Given the description of an element on the screen output the (x, y) to click on. 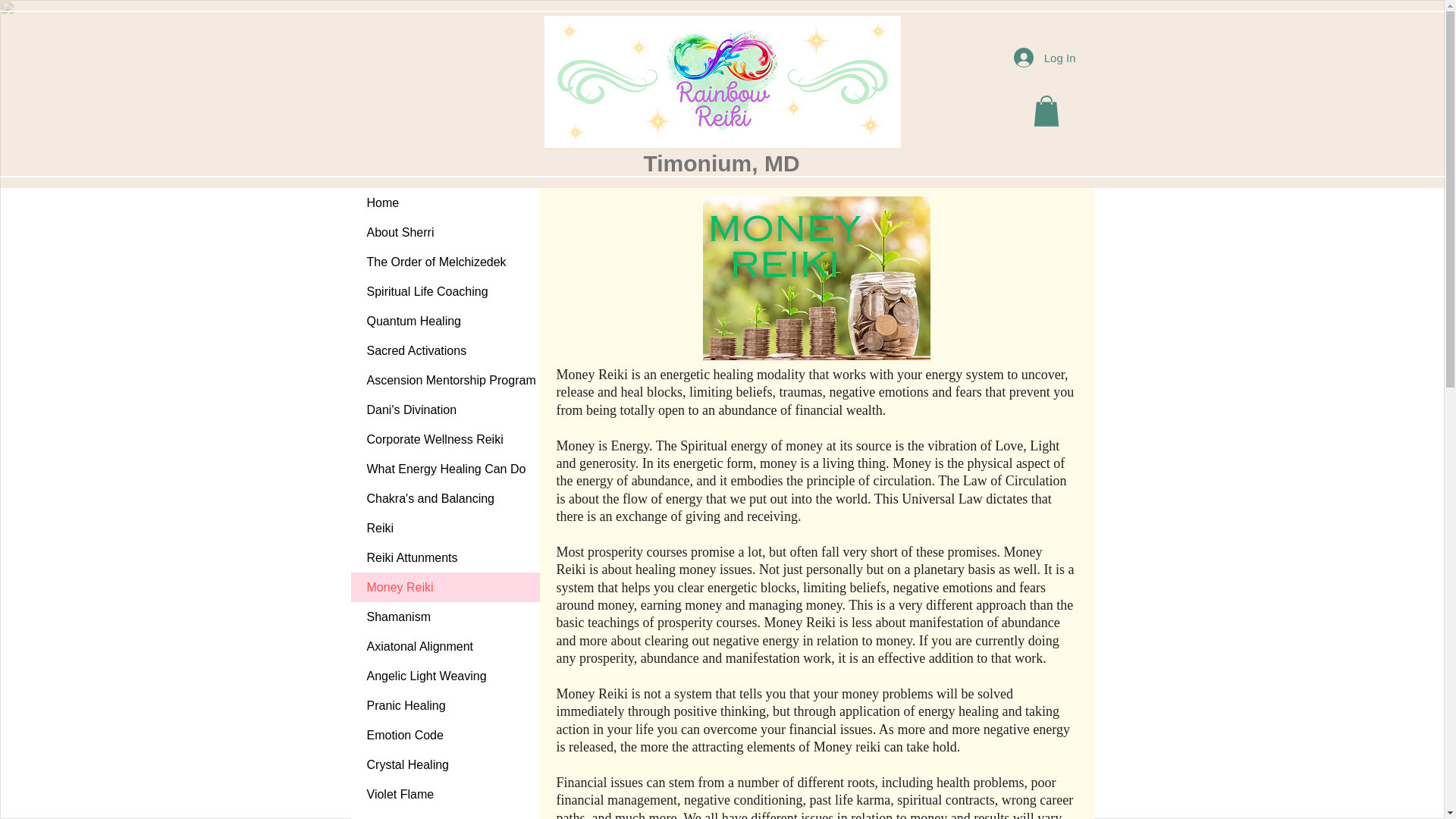
What Energy Healing Can Do (444, 469)
Ascension Mentorship Program (444, 379)
Spiritual Life Coaching (444, 291)
RR NL Header.png (722, 81)
Violet Flame (444, 794)
Money Reiki (444, 586)
Log In (1044, 57)
Quantum Healing (444, 320)
Shamanism (444, 616)
Sacred Activations (444, 350)
